Given the description of an element on the screen output the (x, y) to click on. 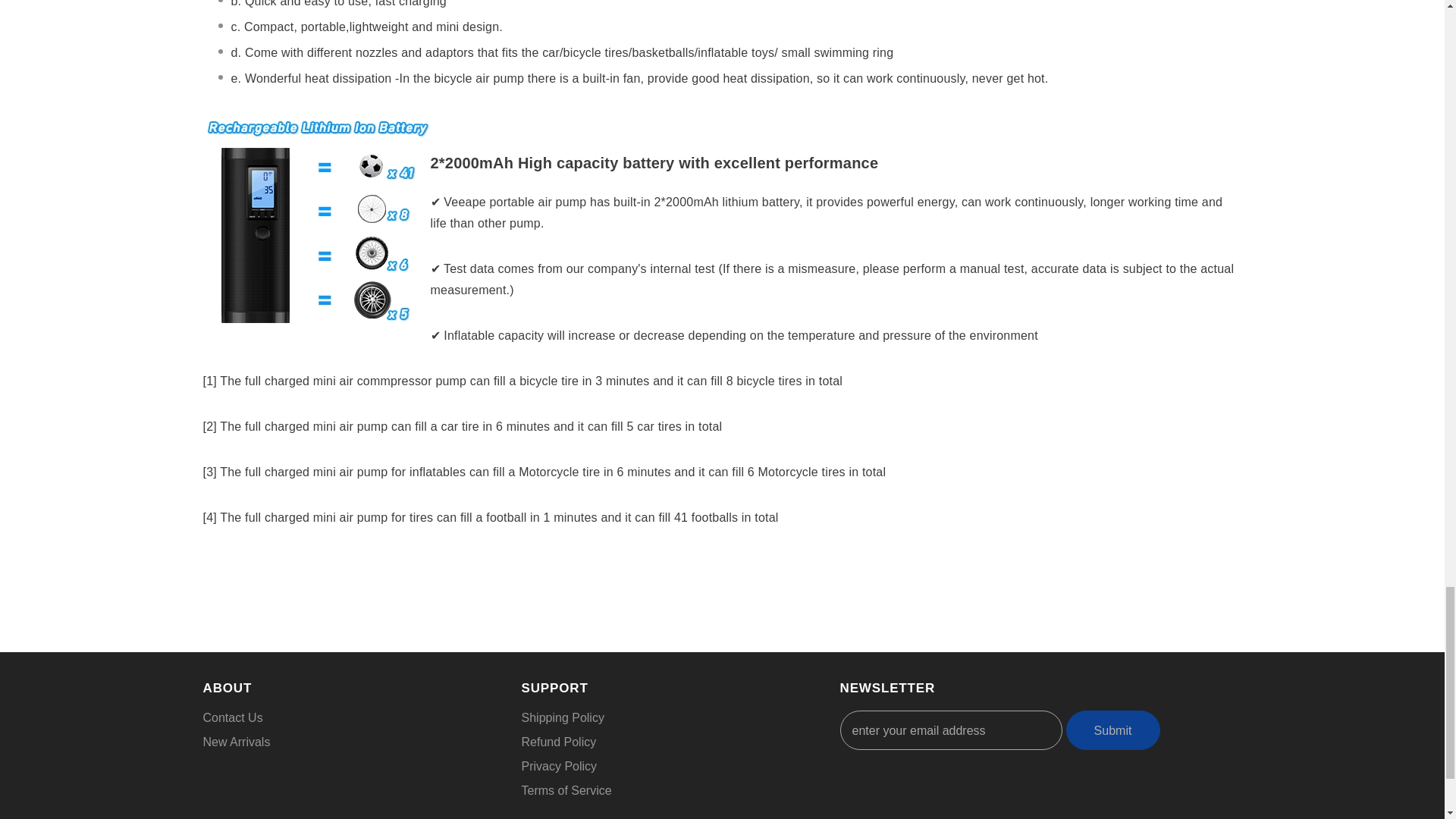
Shipping Policy (562, 717)
Submit (1112, 730)
Privacy Policy (558, 766)
Contact Us (233, 717)
New Arrivals (236, 742)
Refund Policy (558, 742)
